Given the description of an element on the screen output the (x, y) to click on. 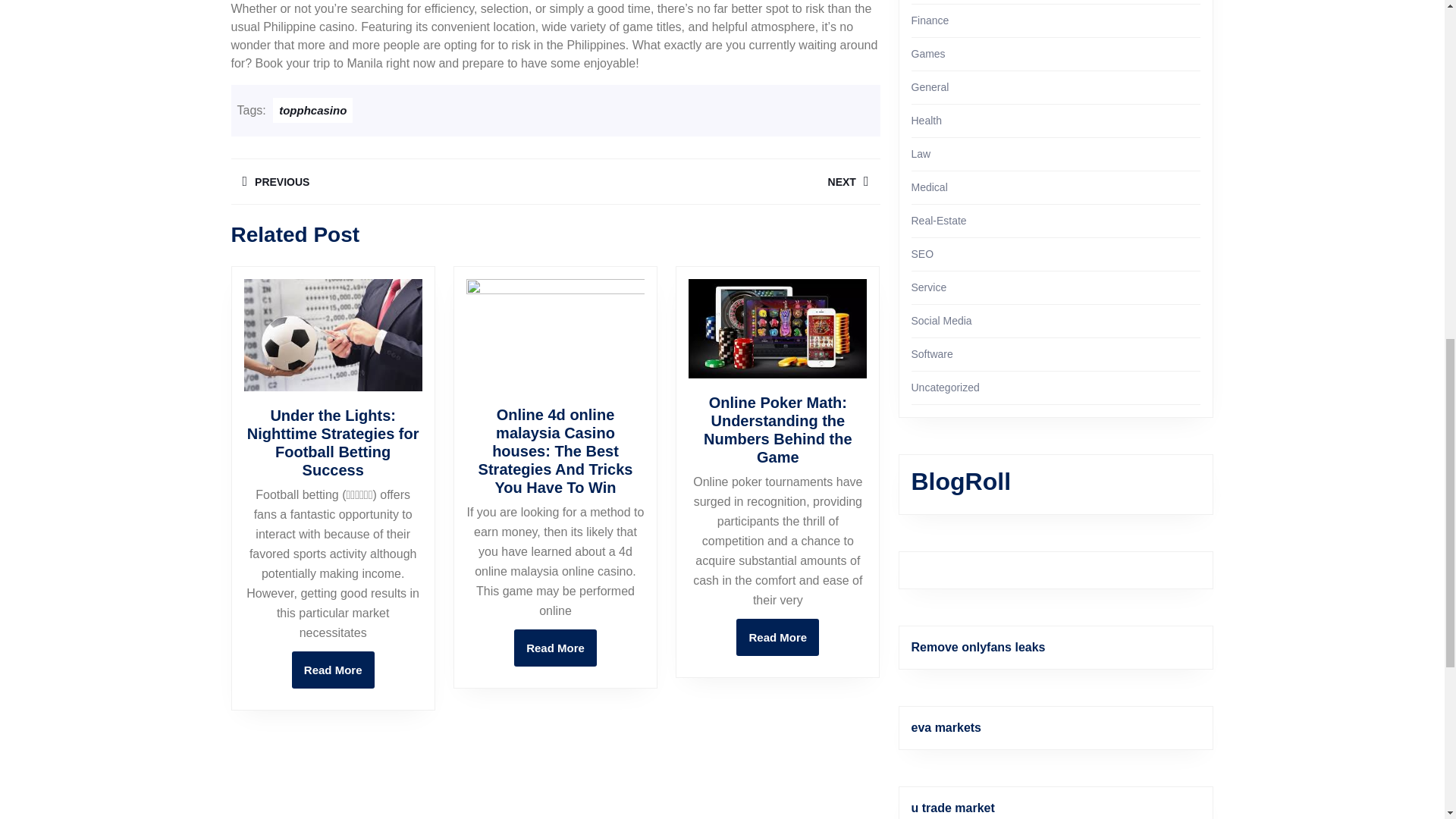
General (930, 87)
Health (926, 120)
topphcasino (312, 109)
Finance (930, 20)
Games (927, 53)
